Given the description of an element on the screen output the (x, y) to click on. 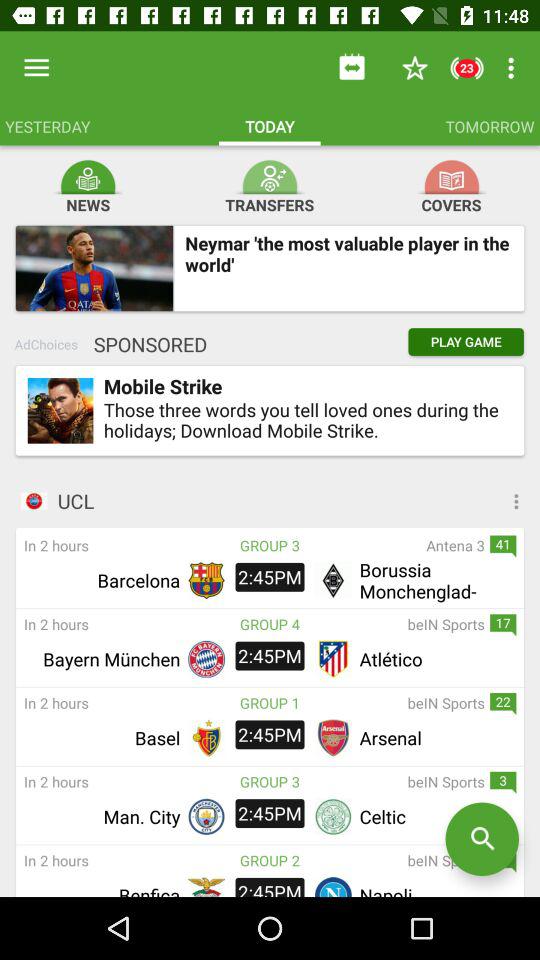
turn on item to the left of the sponsored item (46, 344)
